Given the description of an element on the screen output the (x, y) to click on. 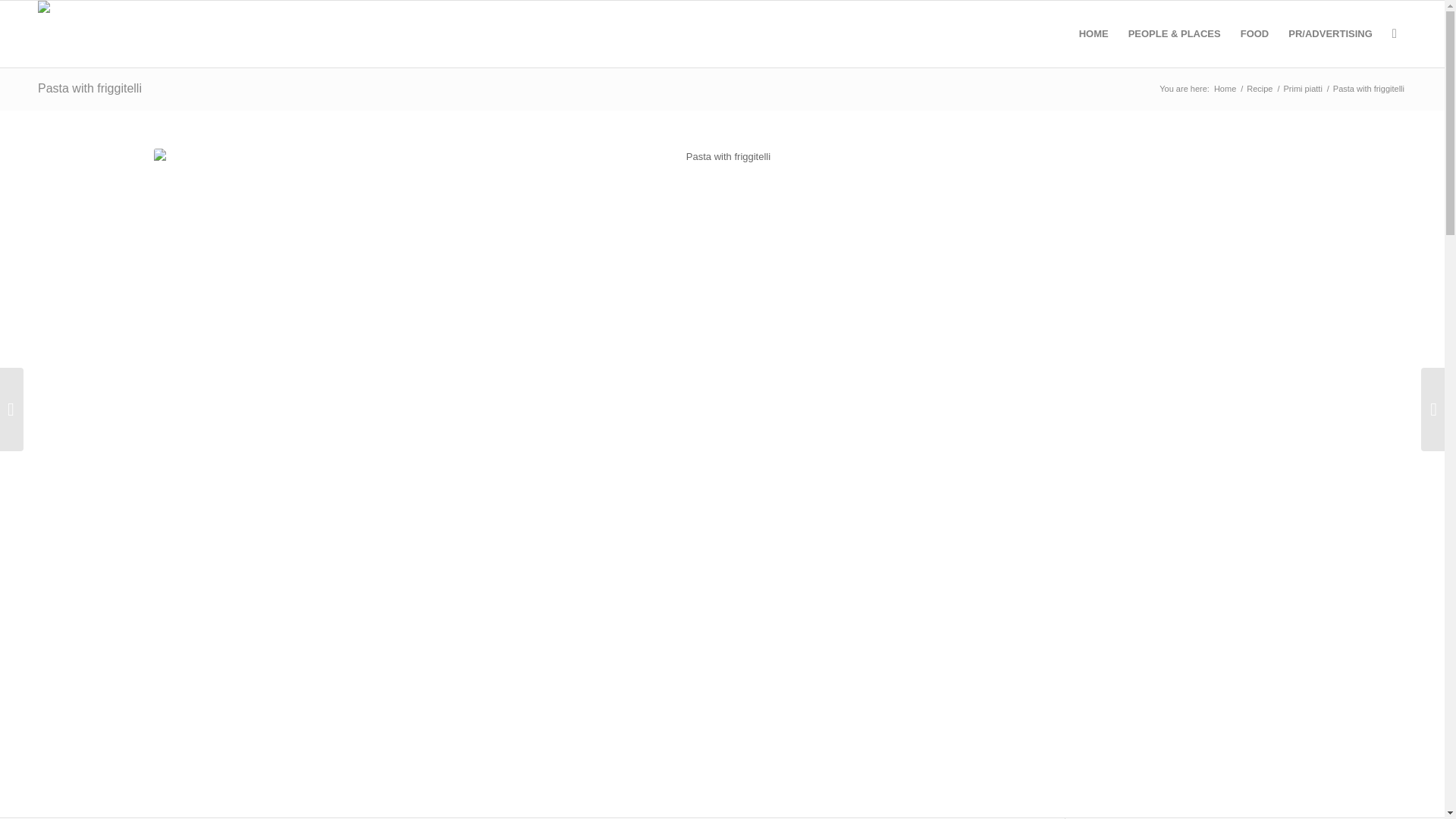
Permanent Link: Pasta with friggitelli (89, 88)
logo (70, 11)
Italian Notes (1225, 89)
logo (70, 33)
Pasta with friggitelli (89, 88)
Recipe (1259, 89)
Primi piatti (1302, 89)
Home (1225, 89)
